Given the description of an element on the screen output the (x, y) to click on. 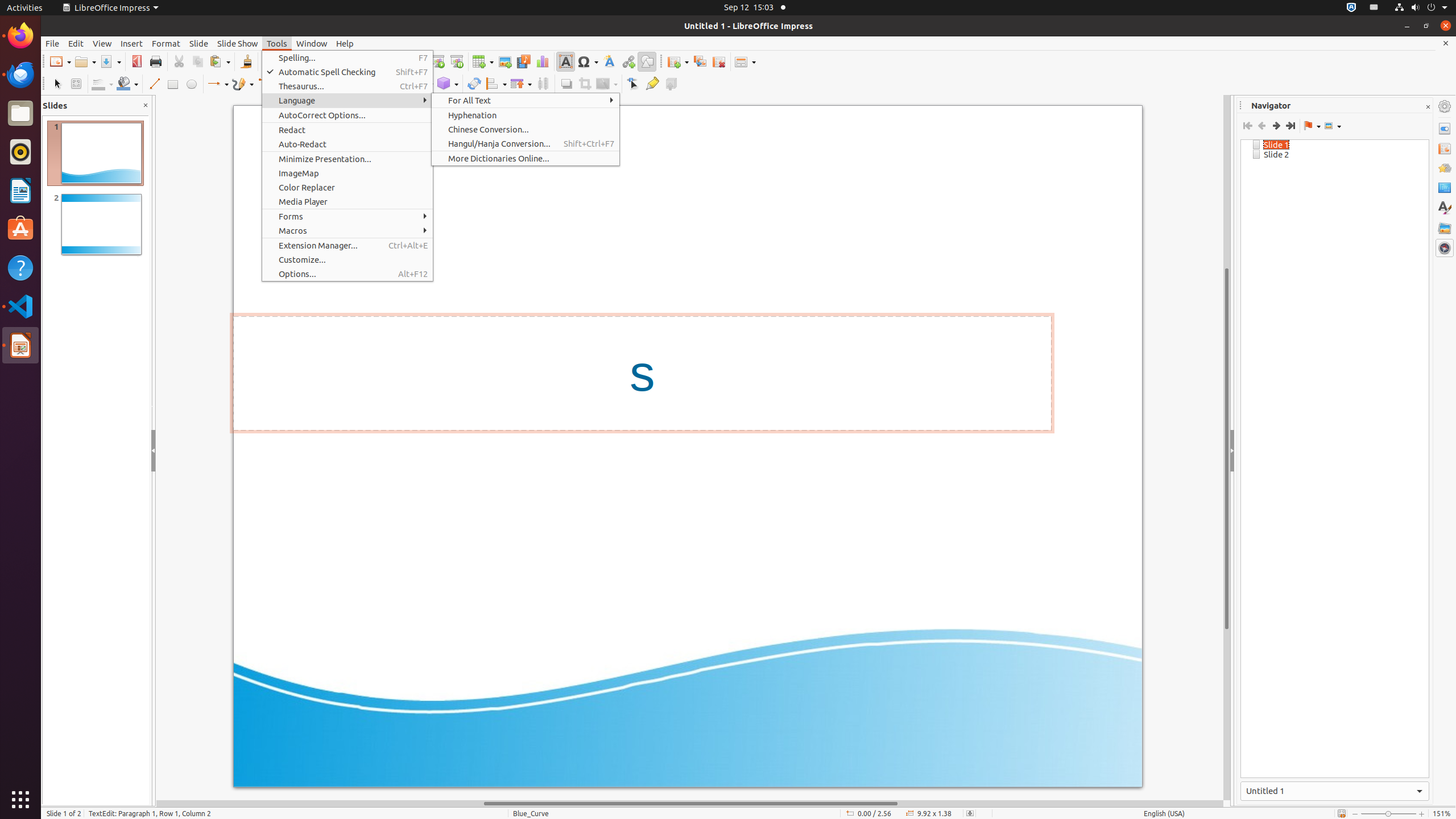
Format Element type: menu (165, 43)
Language Element type: menu (347, 100)
Thunderbird Mail Element type: push-button (20, 74)
AutoCorrect Options... Element type: menu-item (347, 115)
LibreOffice Impress Element type: push-button (20, 344)
